Given the description of an element on the screen output the (x, y) to click on. 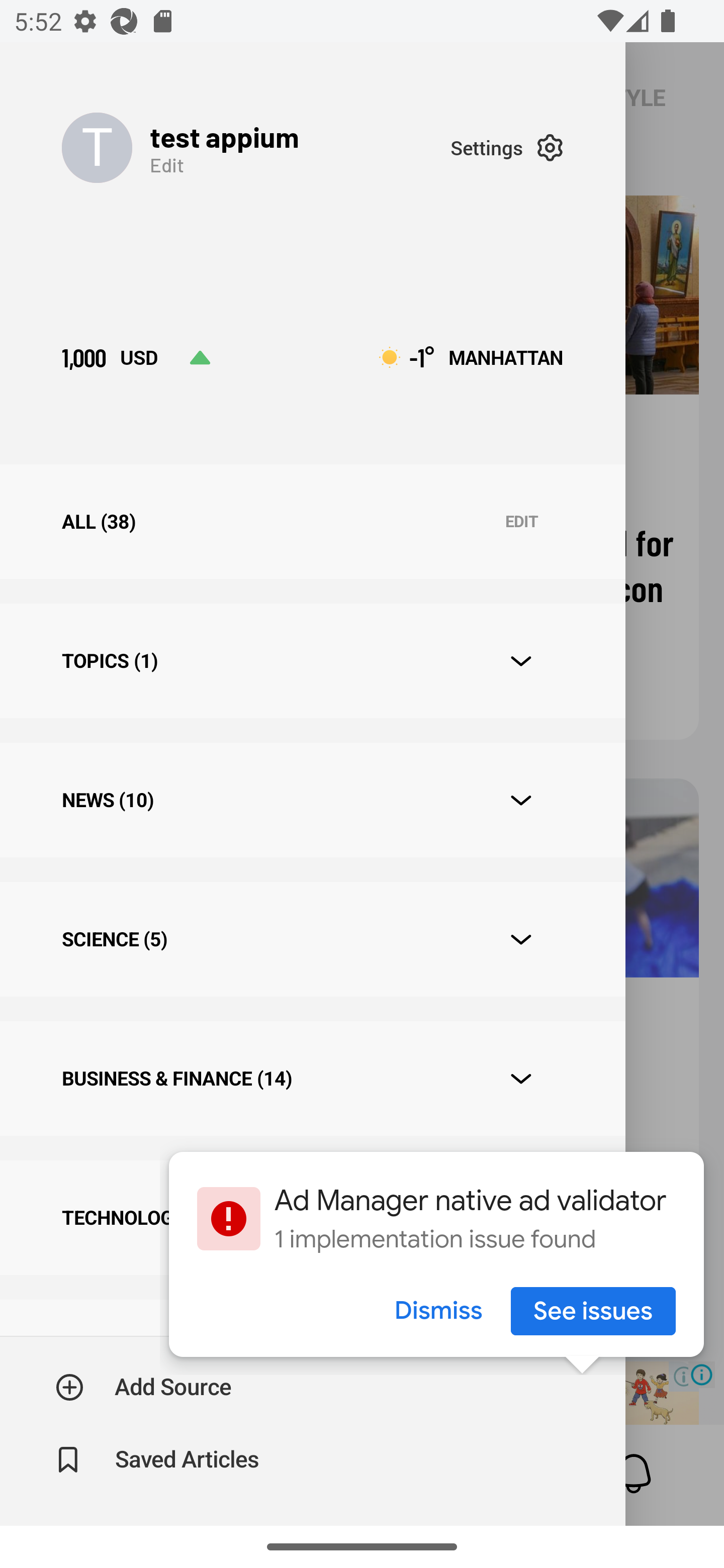
T test appium Edit (255, 147)
Settings Select News Style (506, 147)
1,000 USD Current State of the Currency (135, 357)
Current State of the Weather -1° MANHATTAN (471, 357)
ALL  (38) EDIT (312, 521)
EDIT (521, 521)
TOPICS  (1) Expand Button (312, 660)
Expand Button (521, 661)
NEWS  (10) Expand Button (312, 800)
Expand Button (521, 800)
SCIENCE  (5) Expand Button (312, 939)
Expand Button (521, 938)
BUSINESS & FINANCE  (14) Expand Button (312, 1077)
Expand Button (521, 1078)
Open Content Store Add Source (143, 1387)
Open Saved News  Saved Articles (158, 1459)
